Given the description of an element on the screen output the (x, y) to click on. 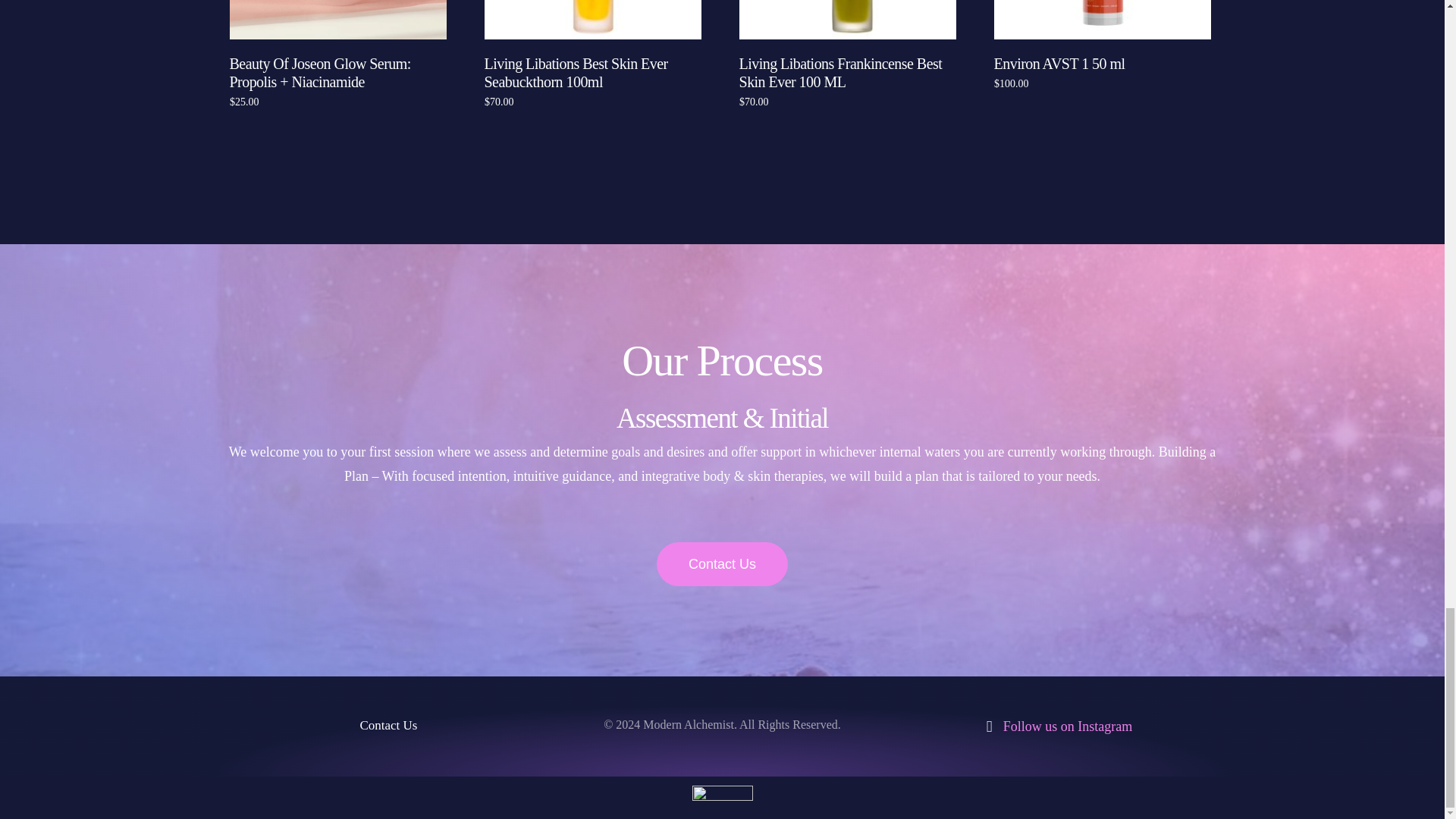
Follow us on Instagram (1055, 726)
Contact Us (387, 725)
Environ AVST 1 50 ml (1102, 36)
Contact Us (721, 564)
Living Libations Frankincense Best Skin Ever 100 ML (847, 45)
Living Libations Best Skin Ever Seabuckthorn 100ml (592, 45)
